Given the description of an element on the screen output the (x, y) to click on. 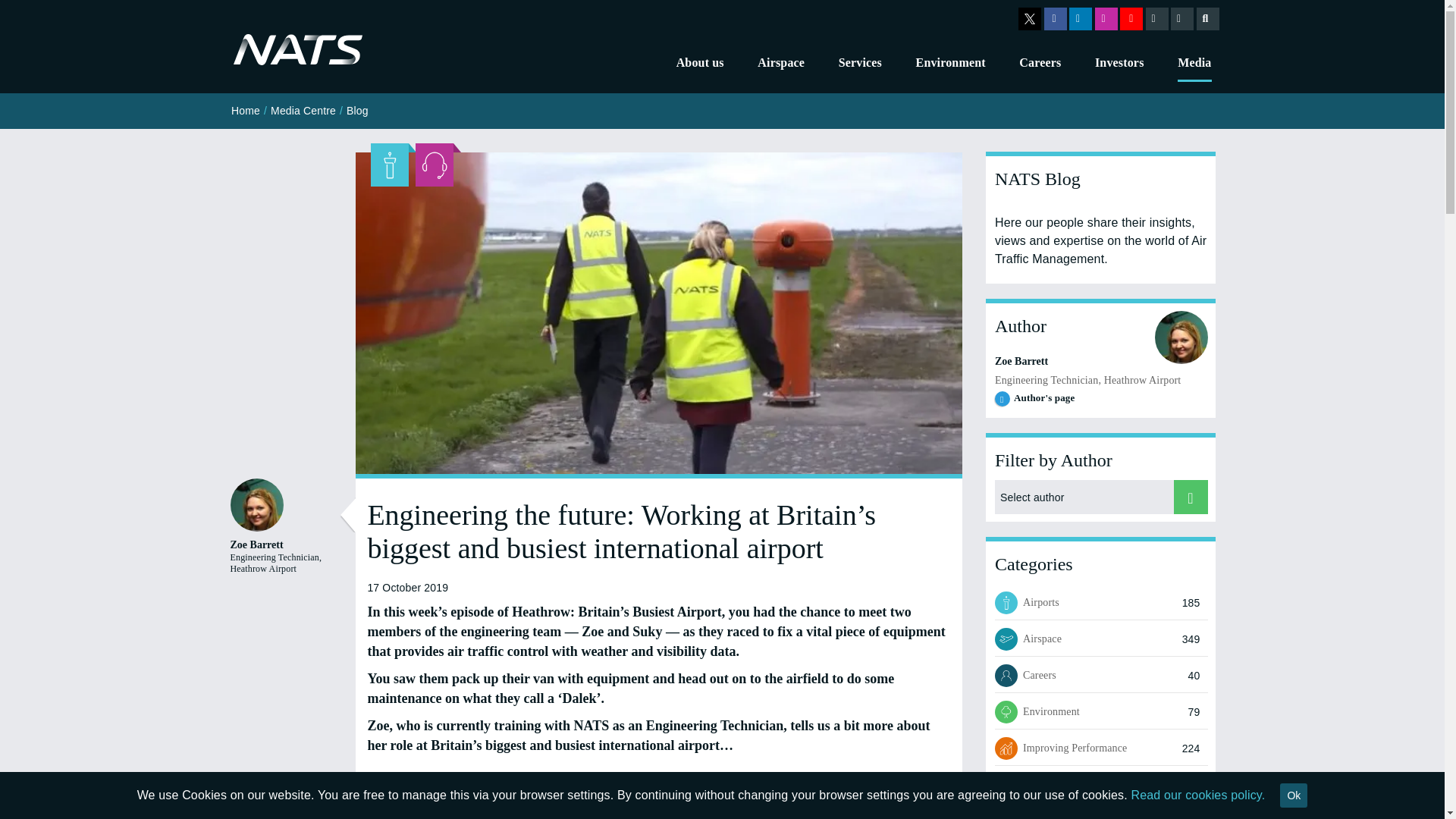
Airspace (781, 63)
About us (700, 63)
Blog (1155, 18)
NATS (297, 49)
Instagram (1106, 18)
YouTube (1130, 18)
Contact (1181, 18)
LinkedIn (1080, 18)
Search (1208, 18)
Services (860, 63)
Twitter (1029, 18)
Facebook (1054, 18)
